Given the description of an element on the screen output the (x, y) to click on. 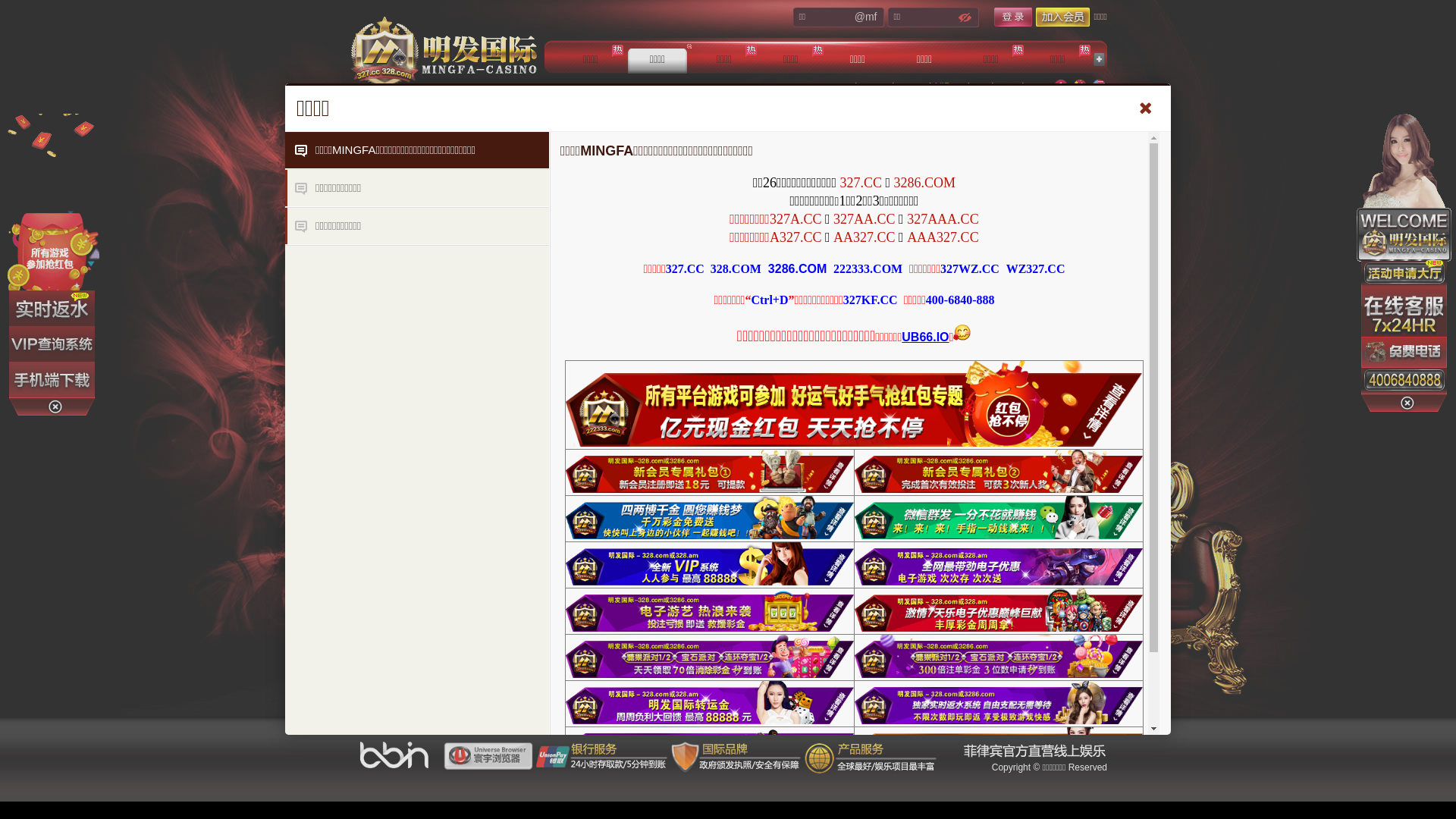
UB66.IO Element type: text (924, 336)
327KF.CC Element type: text (870, 299)
English Element type: hover (1098, 86)
